Given the description of an element on the screen output the (x, y) to click on. 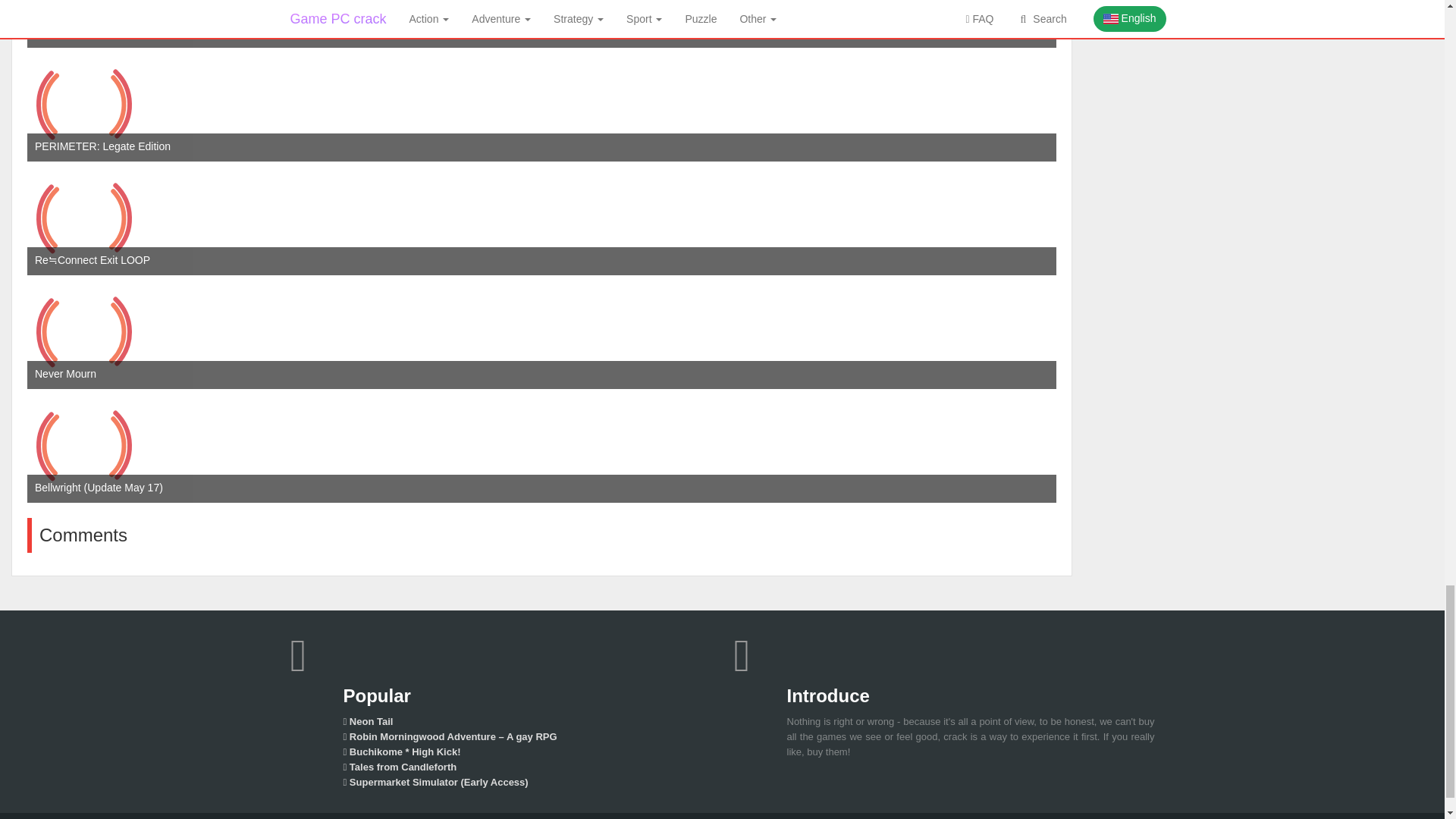
Never Mourn (84, 332)
PERIMETER: Legate Edition (84, 104)
Harvest Hunt (84, 23)
